Given the description of an element on the screen output the (x, y) to click on. 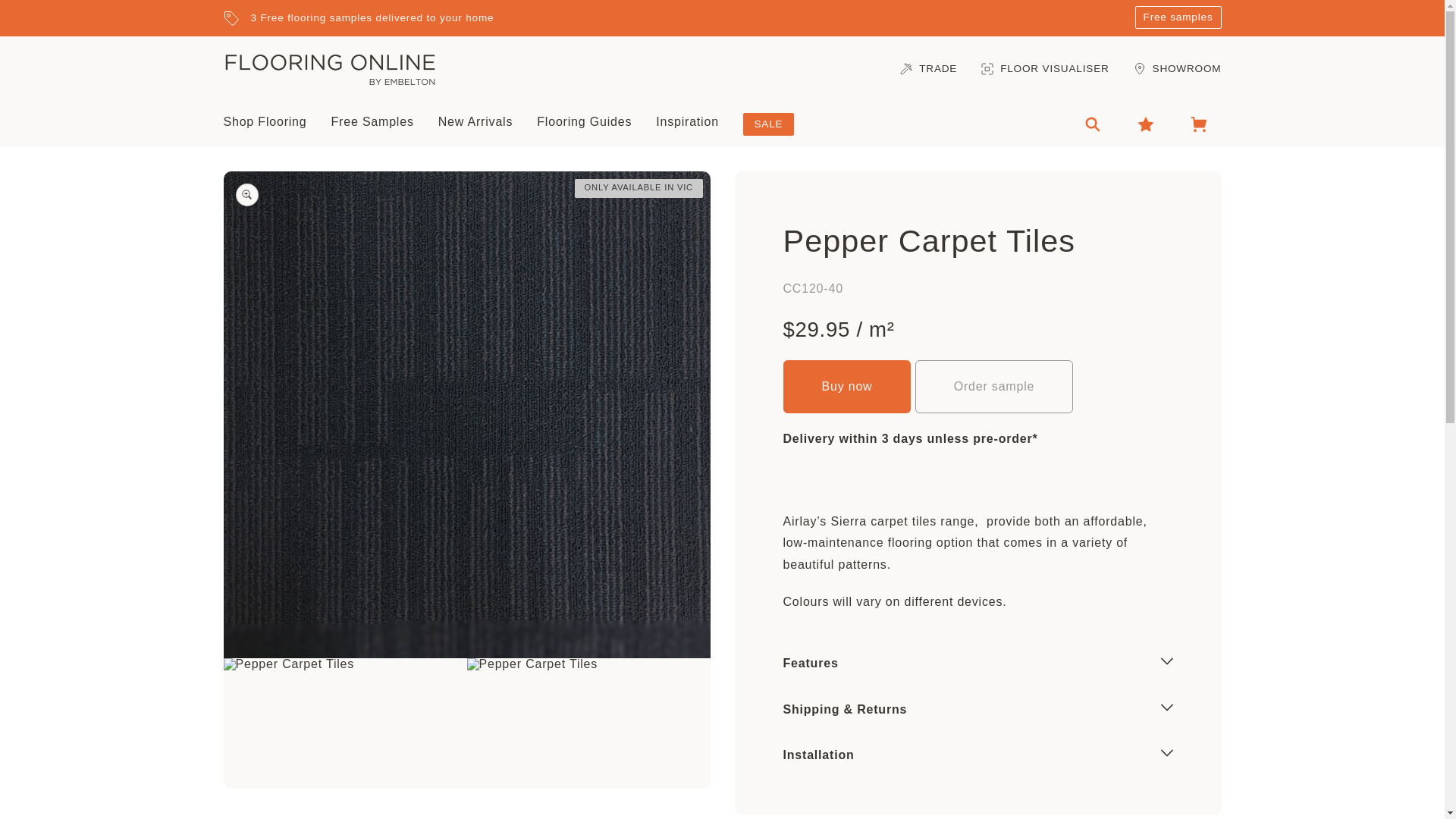
Skip to content (67, 22)
SHOWROOM (1177, 68)
Inspiration (687, 122)
My favourites (1144, 124)
New Arrivals (475, 122)
3 Free flooring samples delivered to your home (672, 17)
Buy now (847, 386)
Shop Flooring (263, 122)
Free samples (1178, 16)
SALE (767, 123)
